Given the description of an element on the screen output the (x, y) to click on. 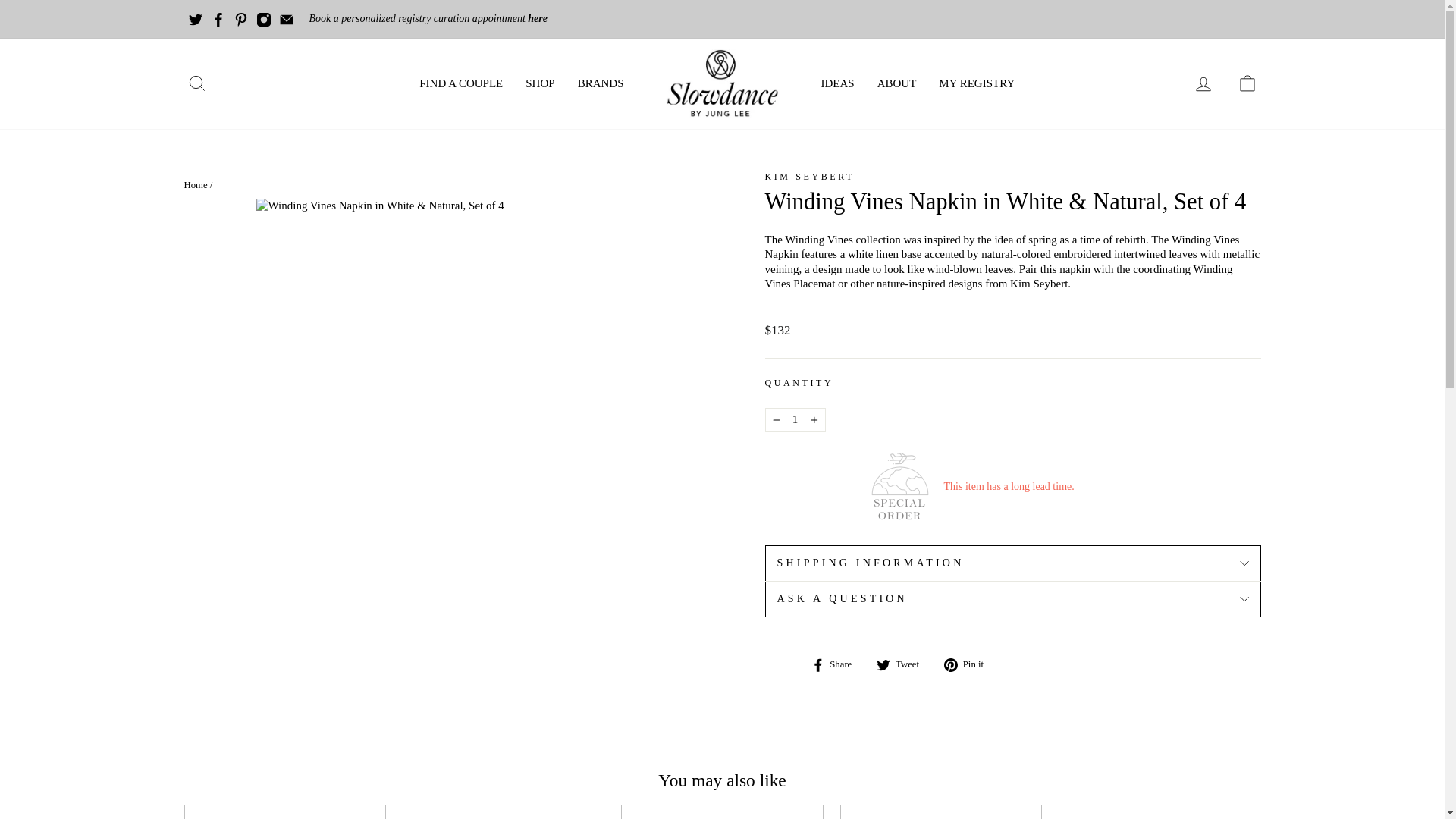
Slowdance by Jung Lee Wedding Registry on Pinterest (240, 18)
1 (794, 419)
Share on Facebook (836, 663)
Tweet on Twitter (903, 663)
Back to the frontpage (194, 184)
Pin on Pinterest (968, 663)
Kim Seybert (809, 176)
Slowdance by Jung Lee Wedding Registry on Email (286, 18)
Slowdance by Jung Lee Wedding Registry on Twitter (195, 18)
Slowdance by Jung Lee Wedding Registry on Instagram (263, 18)
Slowdance by Jung Lee Wedding Registry on Facebook (218, 18)
